Given the description of an element on the screen output the (x, y) to click on. 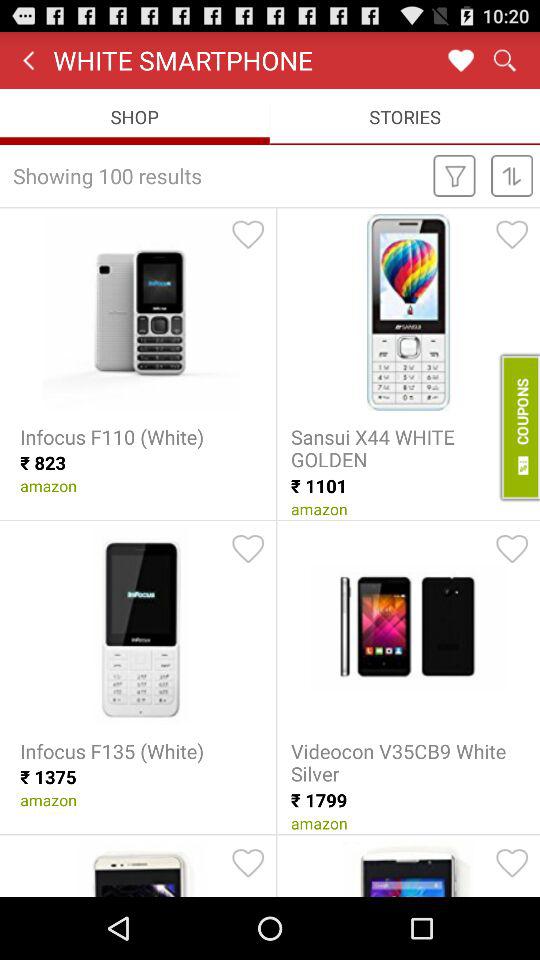
view coupons (518, 427)
